Given the description of an element on the screen output the (x, y) to click on. 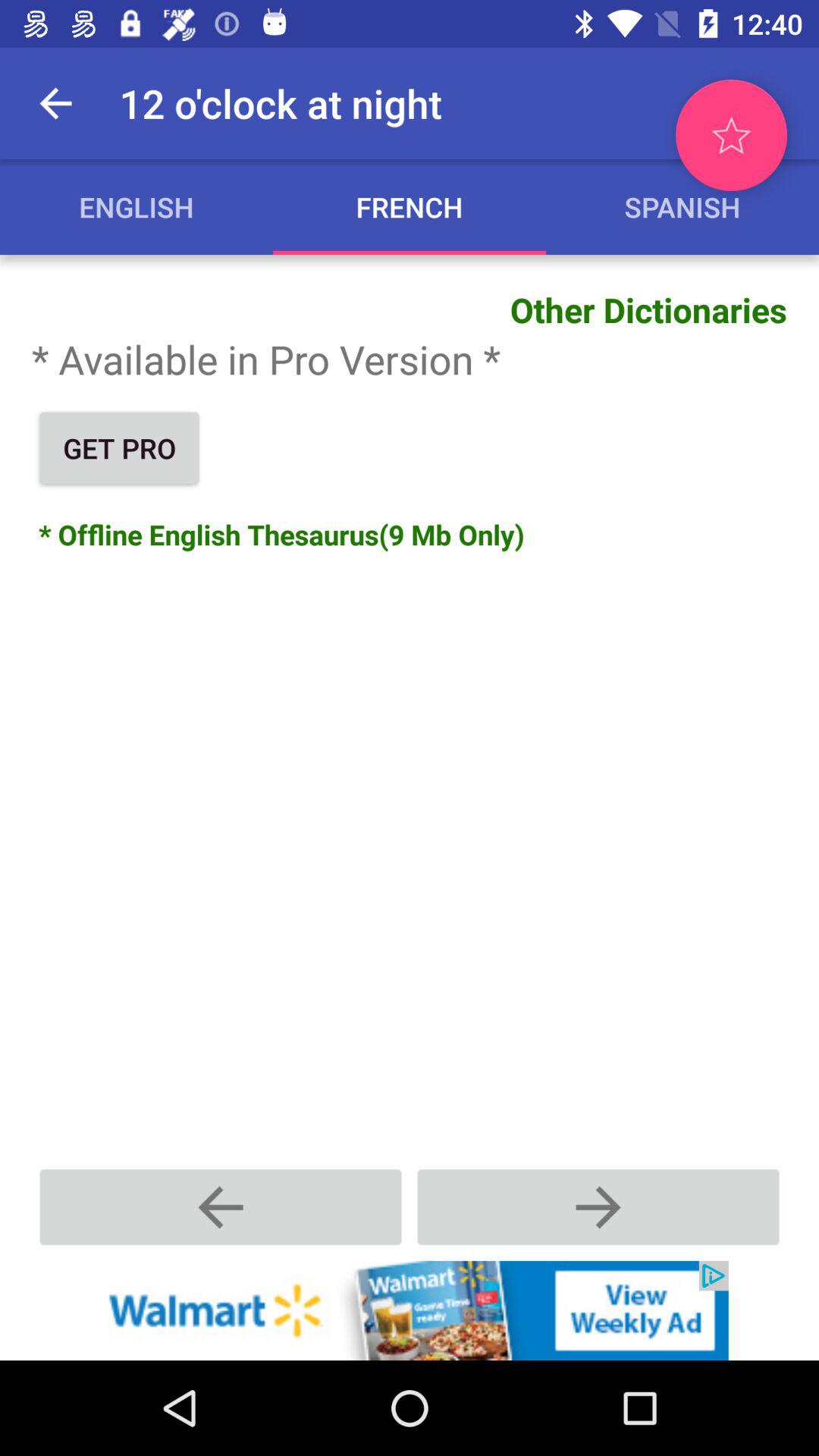
go back (220, 1206)
